Given the description of an element on the screen output the (x, y) to click on. 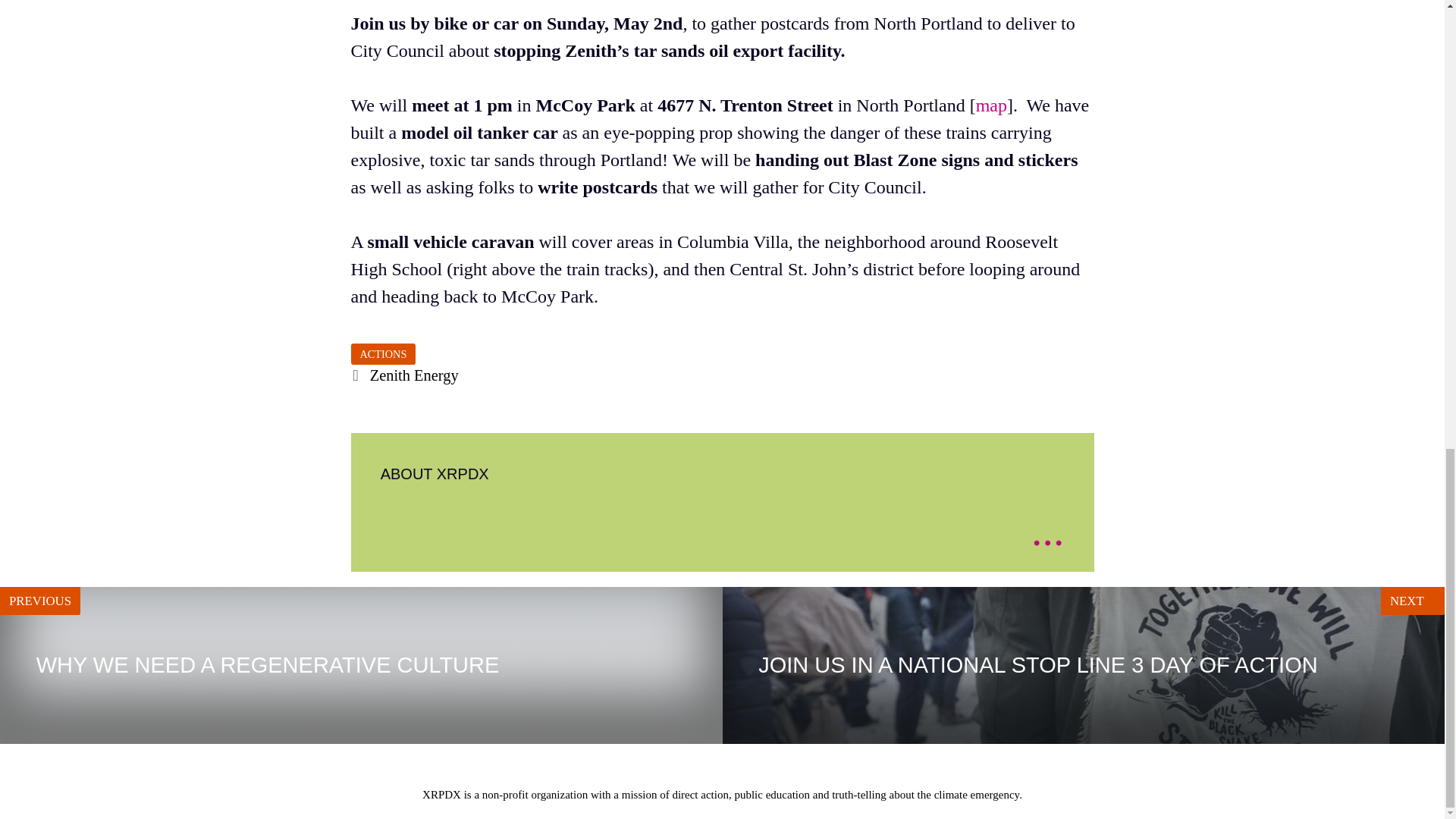
ACTIONS (361, 665)
map (382, 353)
Zenith Energy (991, 105)
Scroll back to top (413, 375)
Read more (1406, 539)
... (1047, 531)
